Given the description of an element on the screen output the (x, y) to click on. 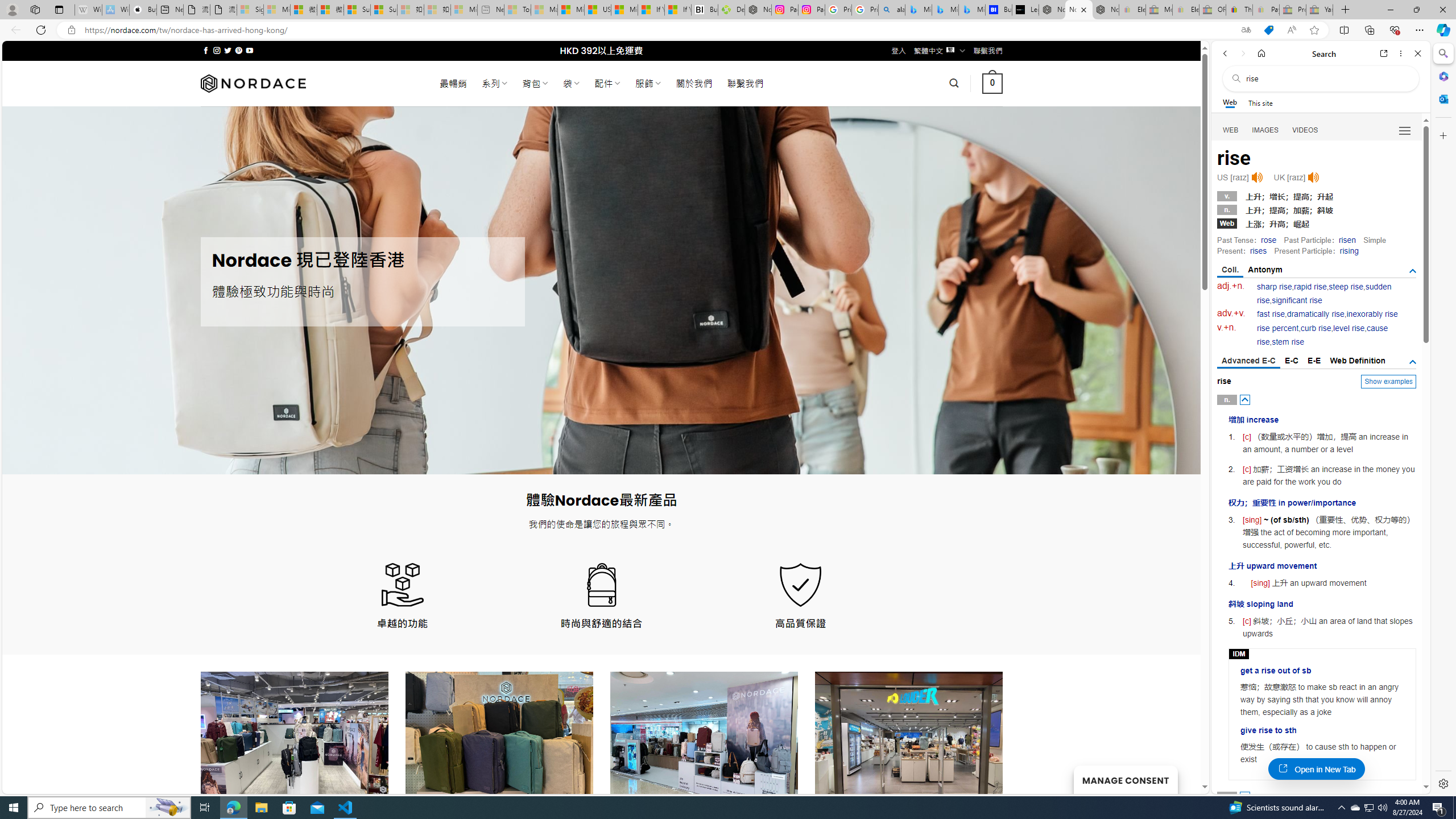
Follow on Pinterest (237, 50)
Payments Terms of Use | eBay.com - Sleeping (1265, 9)
alabama high school quarterback dies - Search (891, 9)
This site has coupons! Shopping in Microsoft Edge (1268, 29)
